Given the description of an element on the screen output the (x, y) to click on. 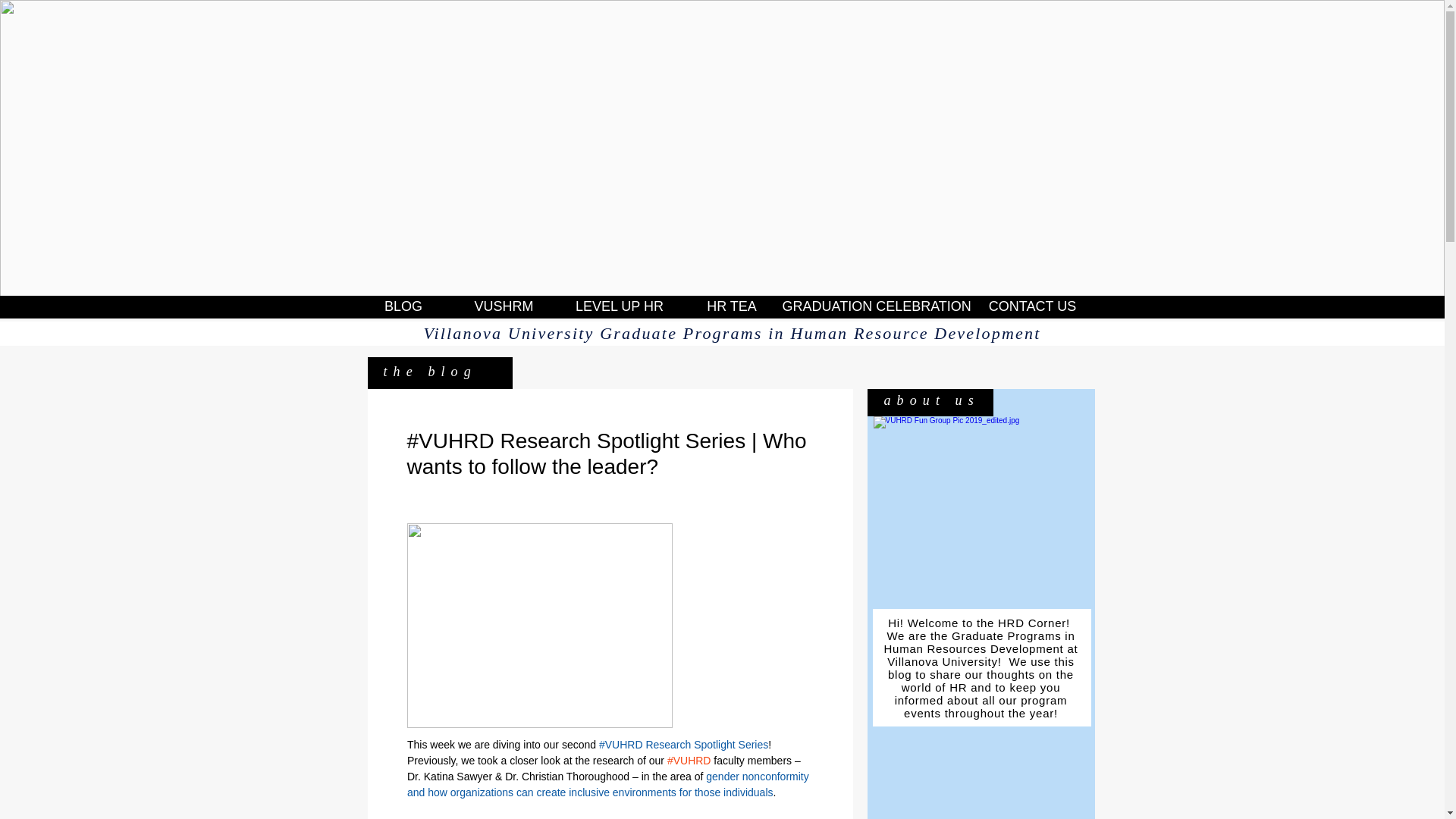
HR TEA (731, 306)
GRADUATION CELEBRATION (877, 306)
CONTACT US (1032, 306)
LEVEL UP HR (619, 306)
BLOG (402, 306)
VUSHRM (503, 306)
